Given the description of an element on the screen output the (x, y) to click on. 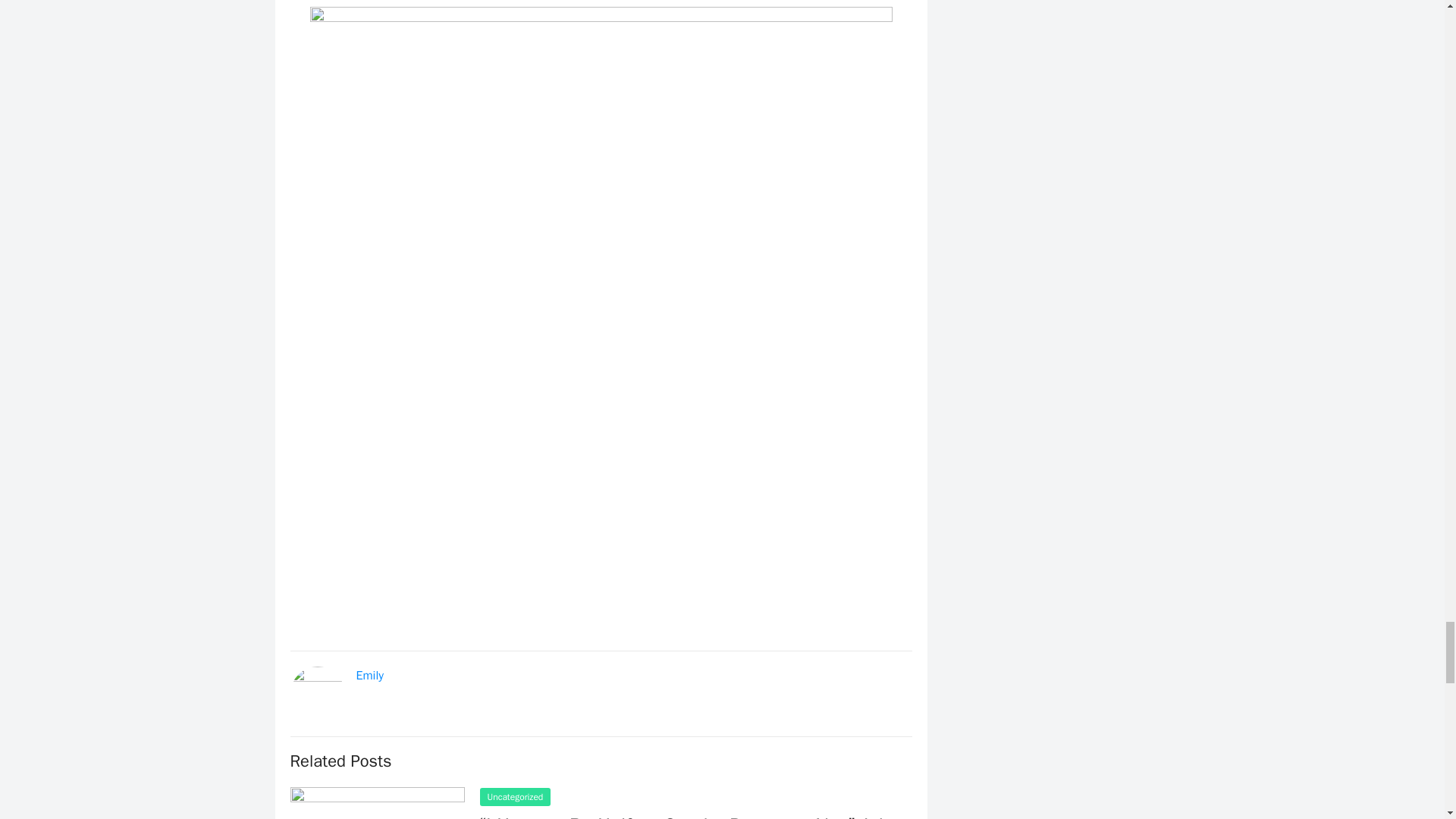
Uncategorized (514, 796)
Emily (370, 675)
